Given the description of an element on the screen output the (x, y) to click on. 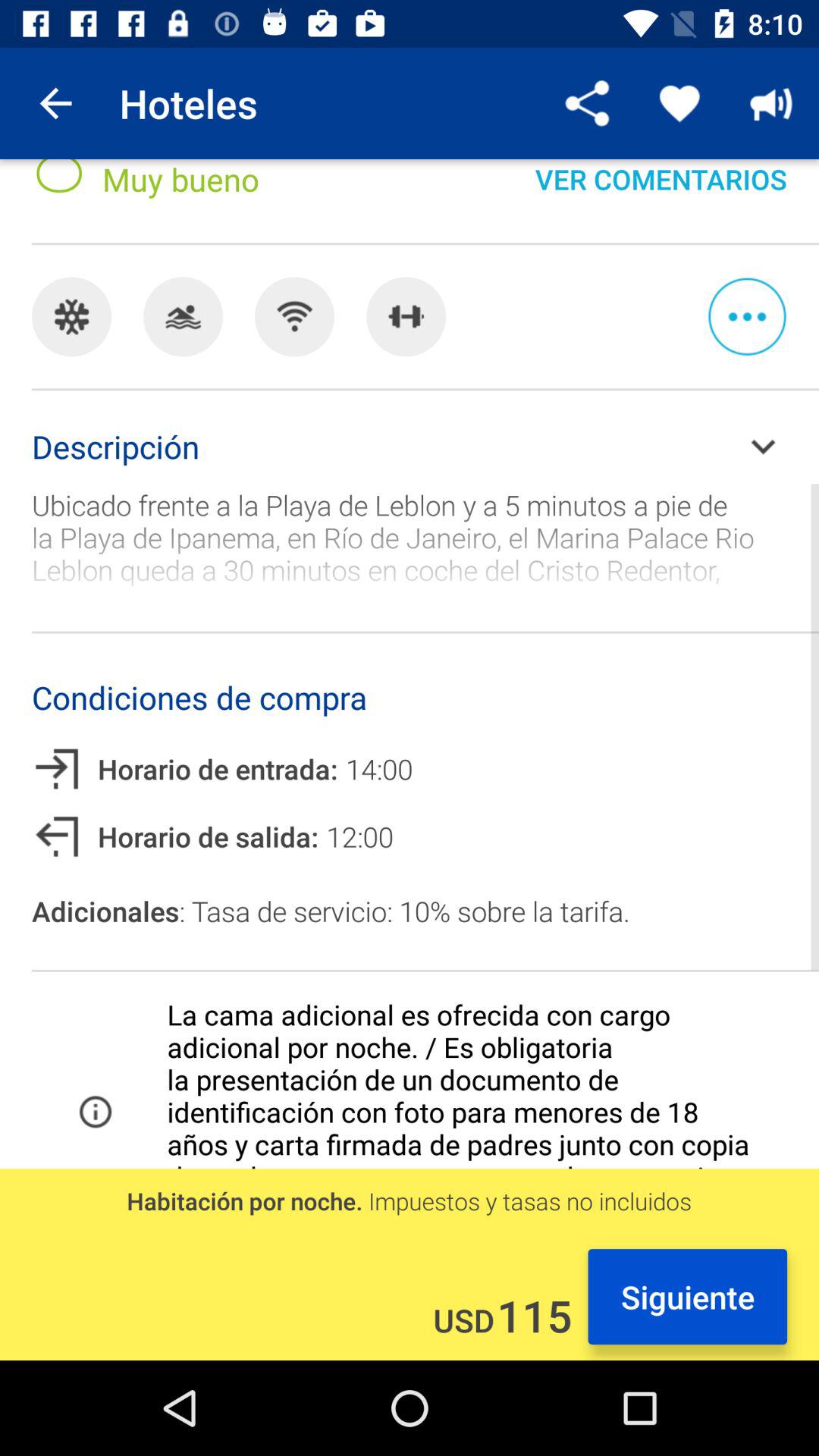
turn off icon to the right of the muy bueno icon (661, 192)
